Given the description of an element on the screen output the (x, y) to click on. 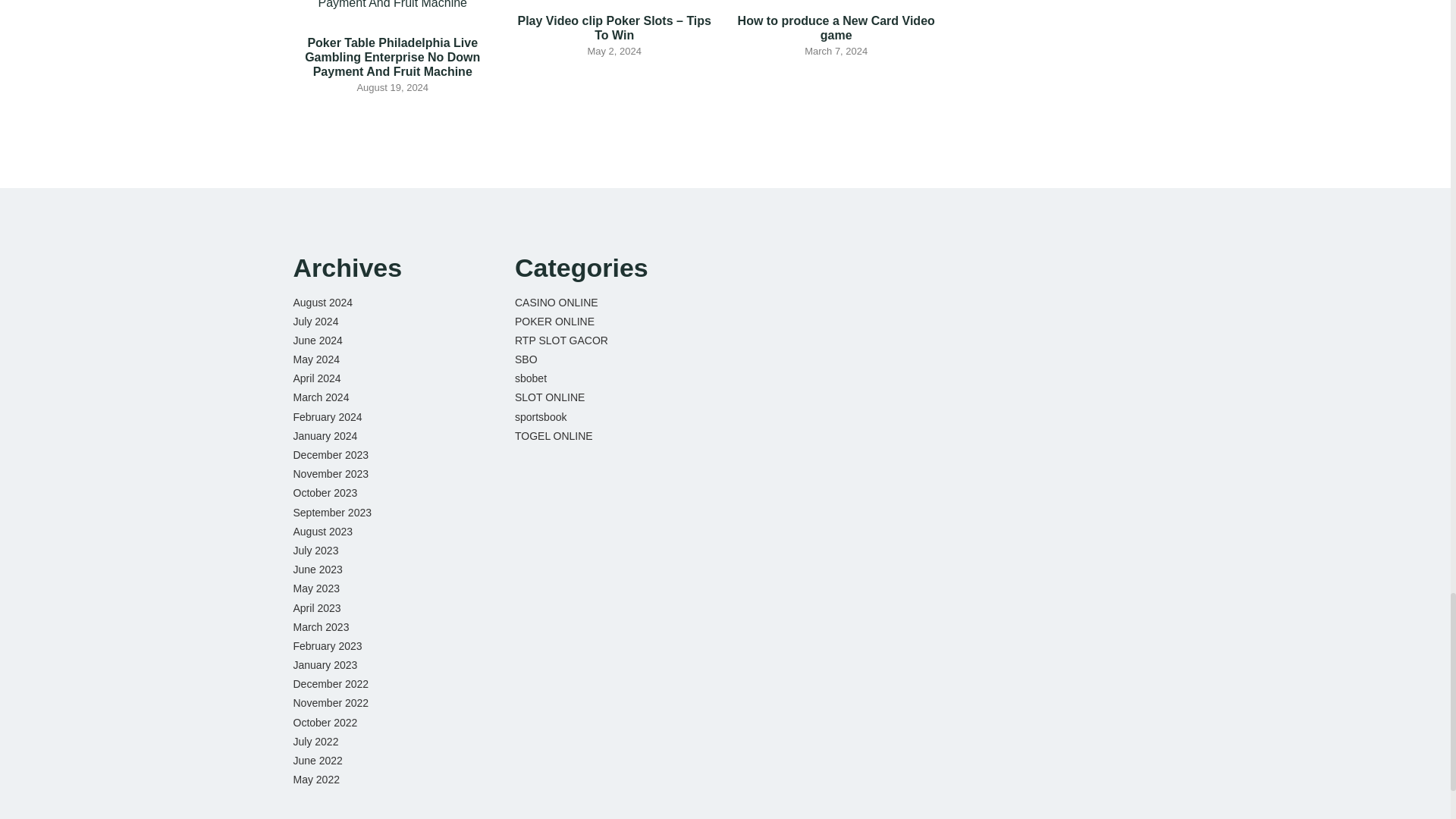
August 2024 (322, 301)
How to produce a New Card Video game (836, 27)
April 2024 (316, 378)
February 2024 (326, 417)
May 2024 (315, 358)
July 2024 (314, 321)
How to produce a New Card Video game (836, 27)
March 2024 (320, 397)
